Given the description of an element on the screen output the (x, y) to click on. 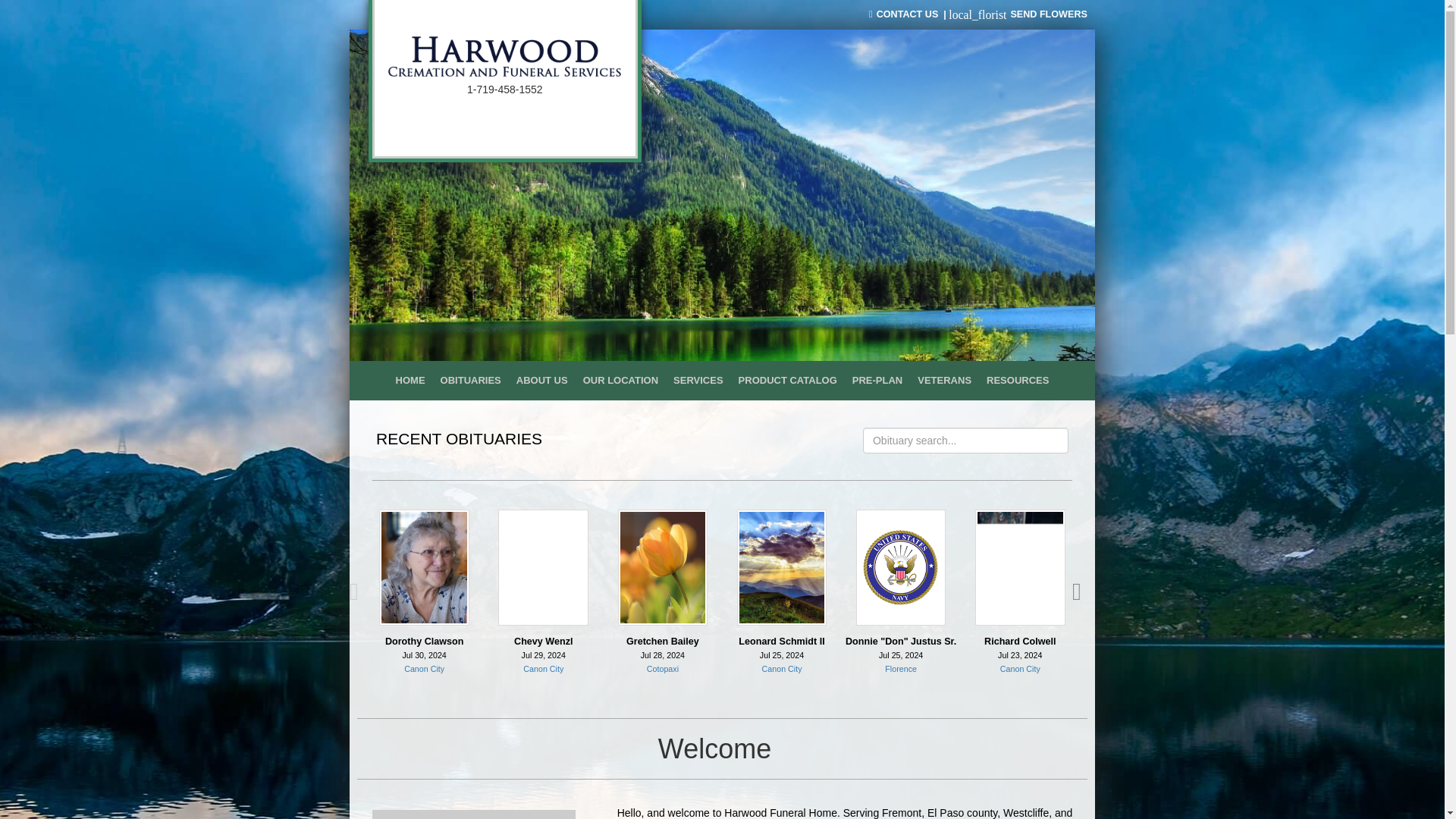
SERVICES (697, 380)
PRE-PLAN (877, 380)
PRODUCT CATALOG (787, 380)
HOME (410, 380)
1-719-458-1552 (505, 89)
VETERANS (944, 380)
ABOUT US (541, 380)
RESOURCES (1017, 380)
CONTACT US (903, 14)
OBITUARIES (470, 380)
OUR LOCATION (620, 380)
